Given the description of an element on the screen output the (x, y) to click on. 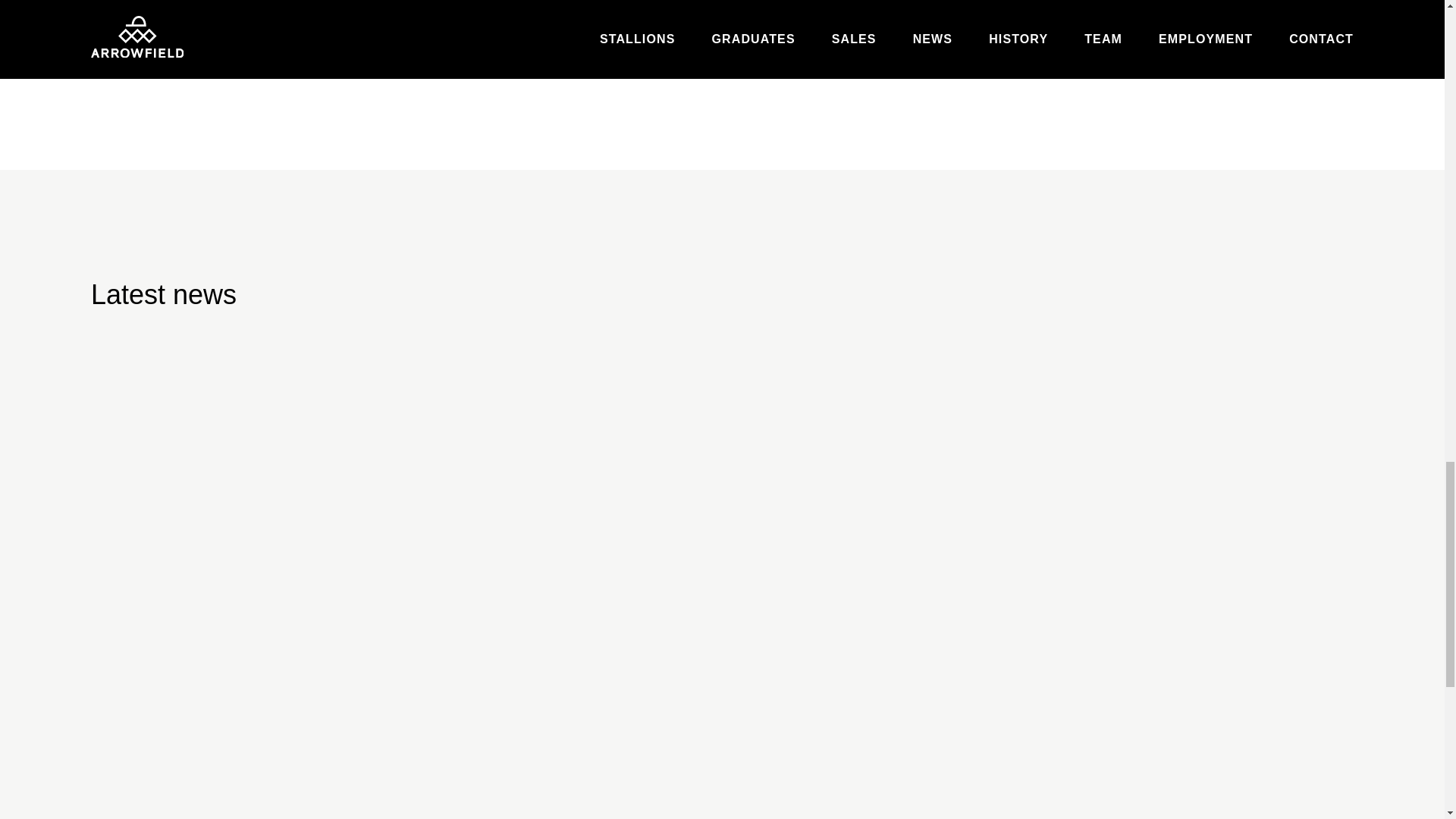
BACK TO ALL NEWS (172, 49)
